Given the description of an element on the screen output the (x, y) to click on. 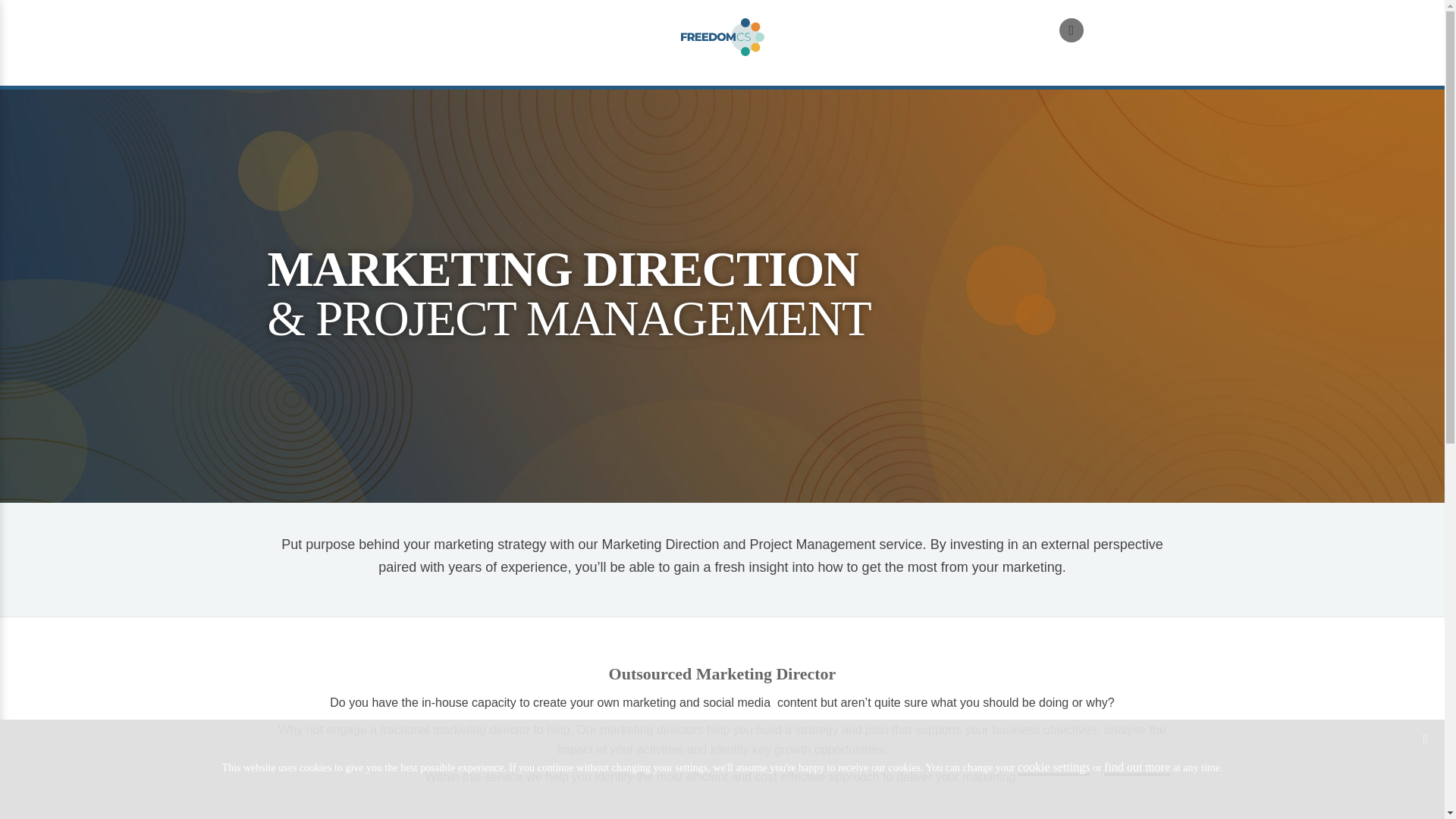
023 8001 1216 (1118, 28)
MENU (312, 45)
